Given the description of an element on the screen output the (x, y) to click on. 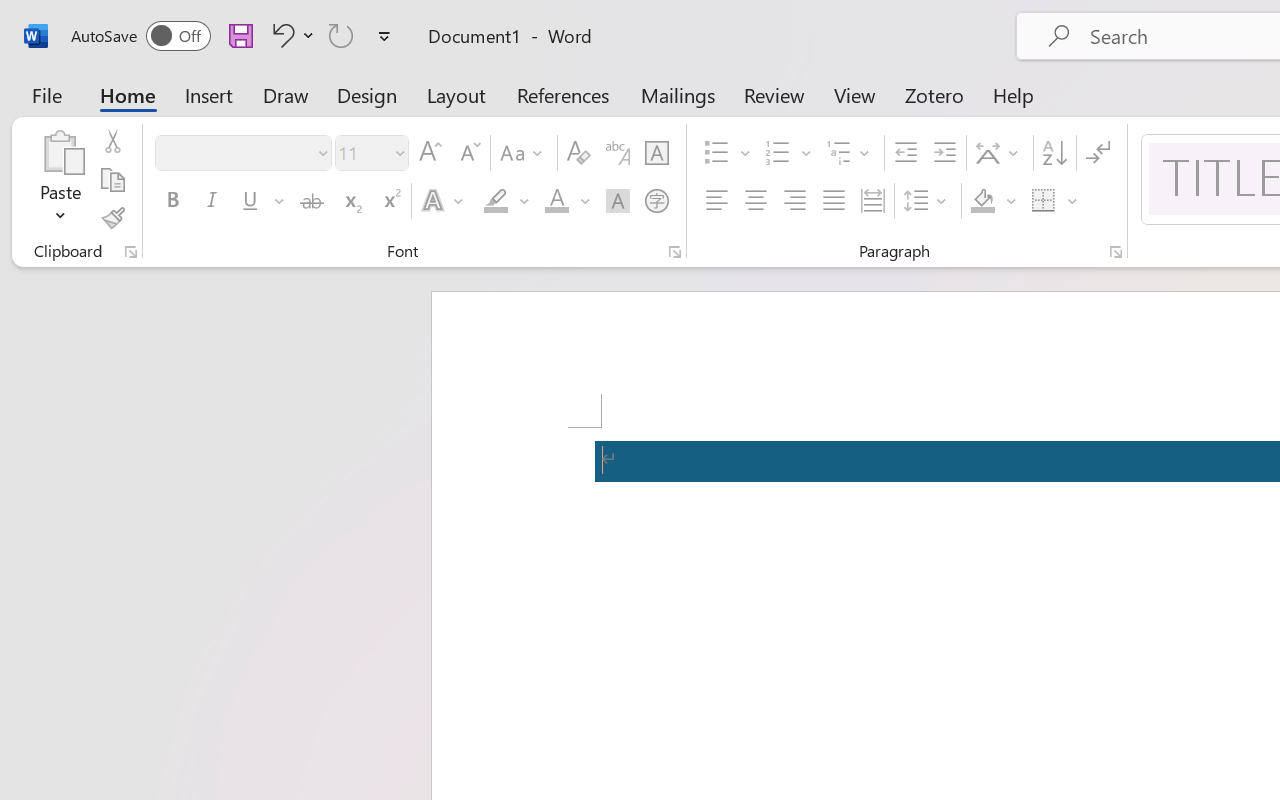
Repeat Accessibility Checker (341, 35)
Shading No Color (982, 201)
